Given the description of an element on the screen output the (x, y) to click on. 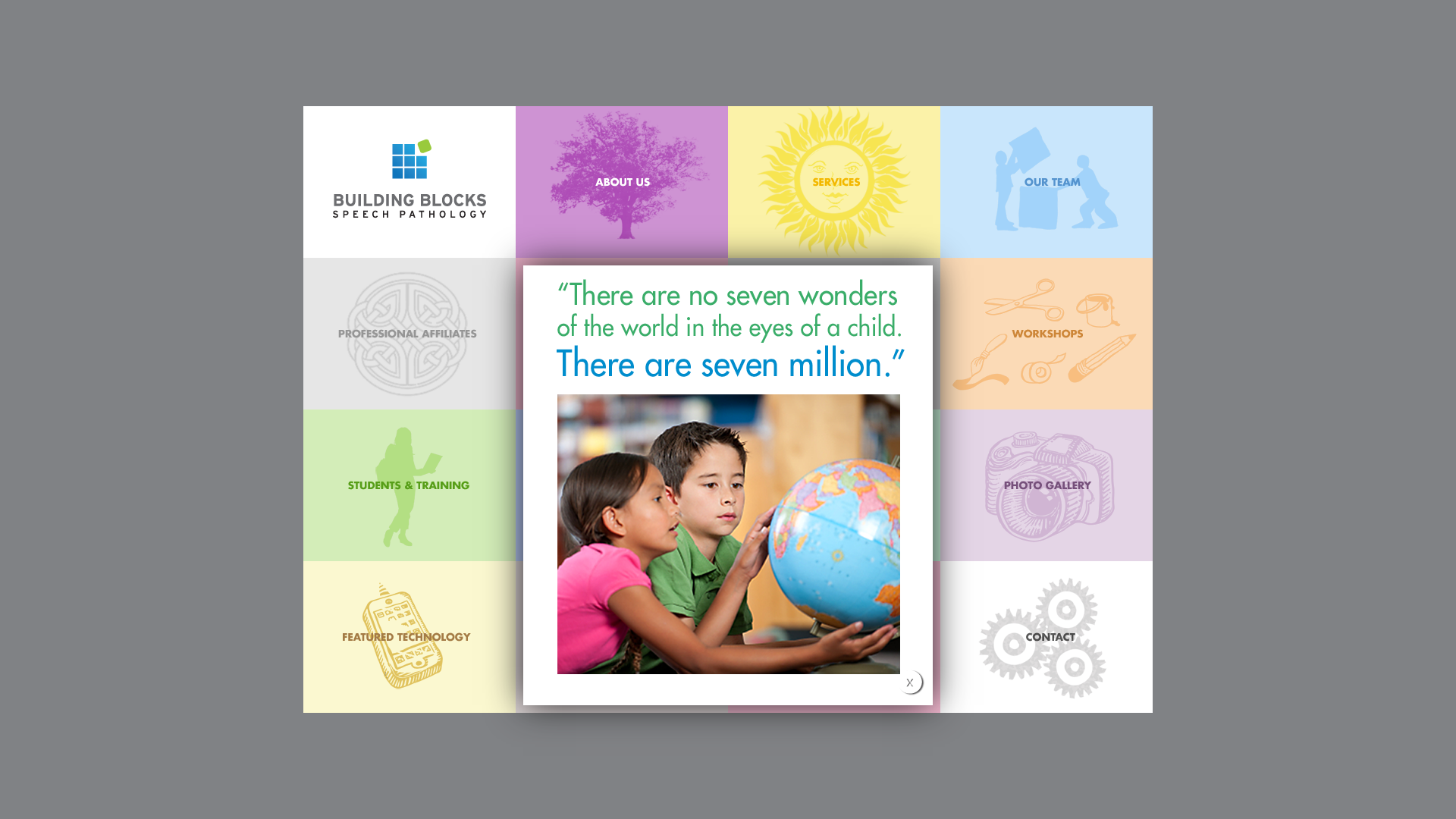
About Element type: hover (621, 181)
Stories...Where they are now Element type: hover (621, 485)
Professional Affiliates Element type: hover (409, 333)
Volunteers Element type: hover (834, 333)
Workshops Element type: hover (1046, 333)
Video Element type: hover (621, 636)
Students & Training Element type: hover (409, 485)
Services Element type: hover (834, 181)
Contact Element type: hover (1046, 636)
Our Team Element type: hover (1046, 181)
Music Art Drama Element type: hover (621, 333)
Photo Gallery Element type: hover (1046, 485)
Featured Technology Element type: hover (409, 636)
News...What's Up! Element type: hover (834, 485)
